Given the description of an element on the screen output the (x, y) to click on. 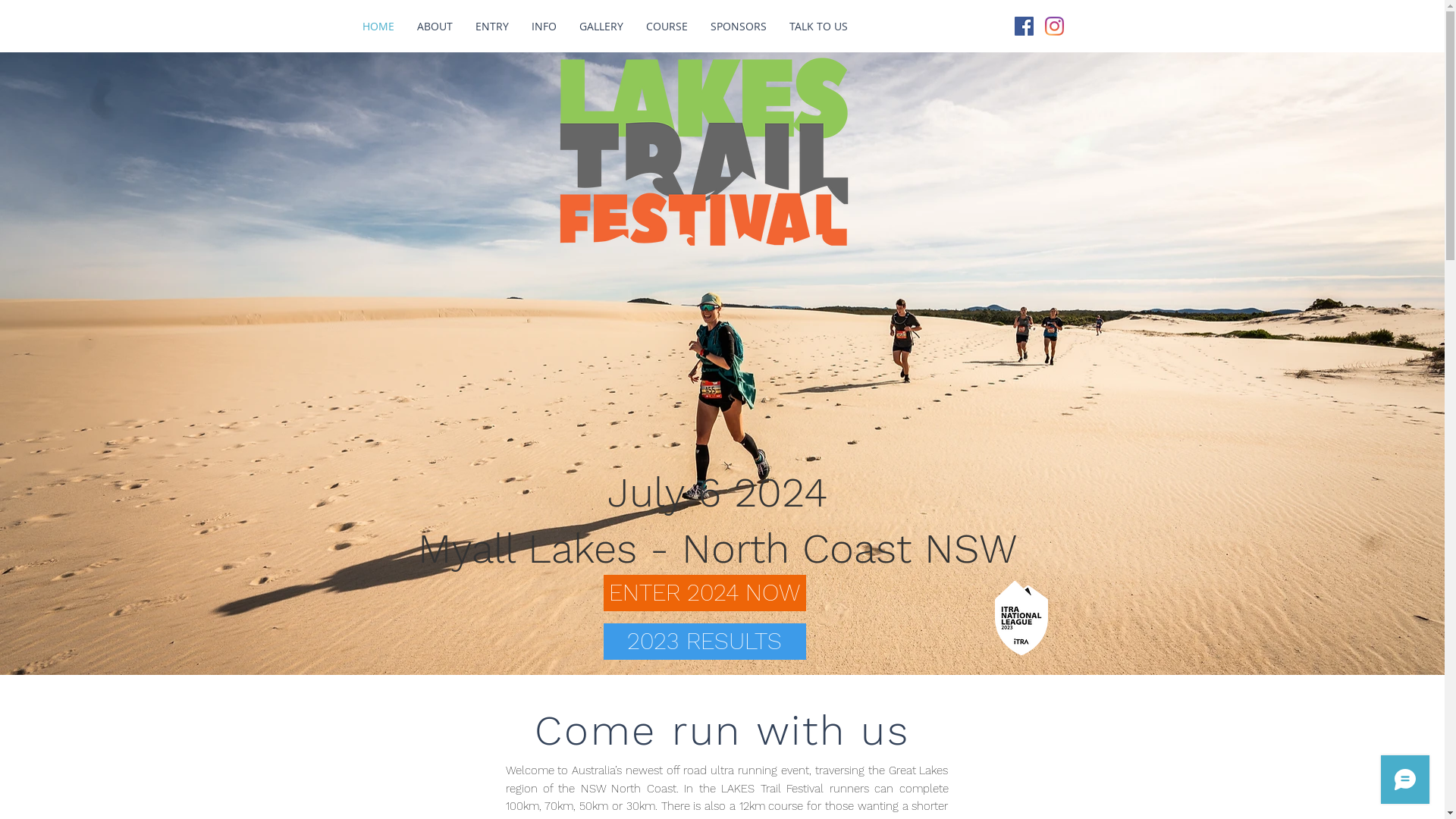
ENTER 2024 NOW Element type: text (704, 592)
COURSE Element type: text (665, 26)
HOME Element type: text (377, 26)
ENTRY Element type: text (492, 26)
Lakes-Trail-Festival.png Element type: hover (703, 153)
INFO Element type: text (543, 26)
INL BLACK.png Element type: hover (1021, 617)
2023 RESULTS Element type: text (704, 641)
TALK TO US Element type: text (818, 26)
ABOUT Element type: text (433, 26)
SPONSORS Element type: text (738, 26)
GALLERY Element type: text (600, 26)
